Given the description of an element on the screen output the (x, y) to click on. 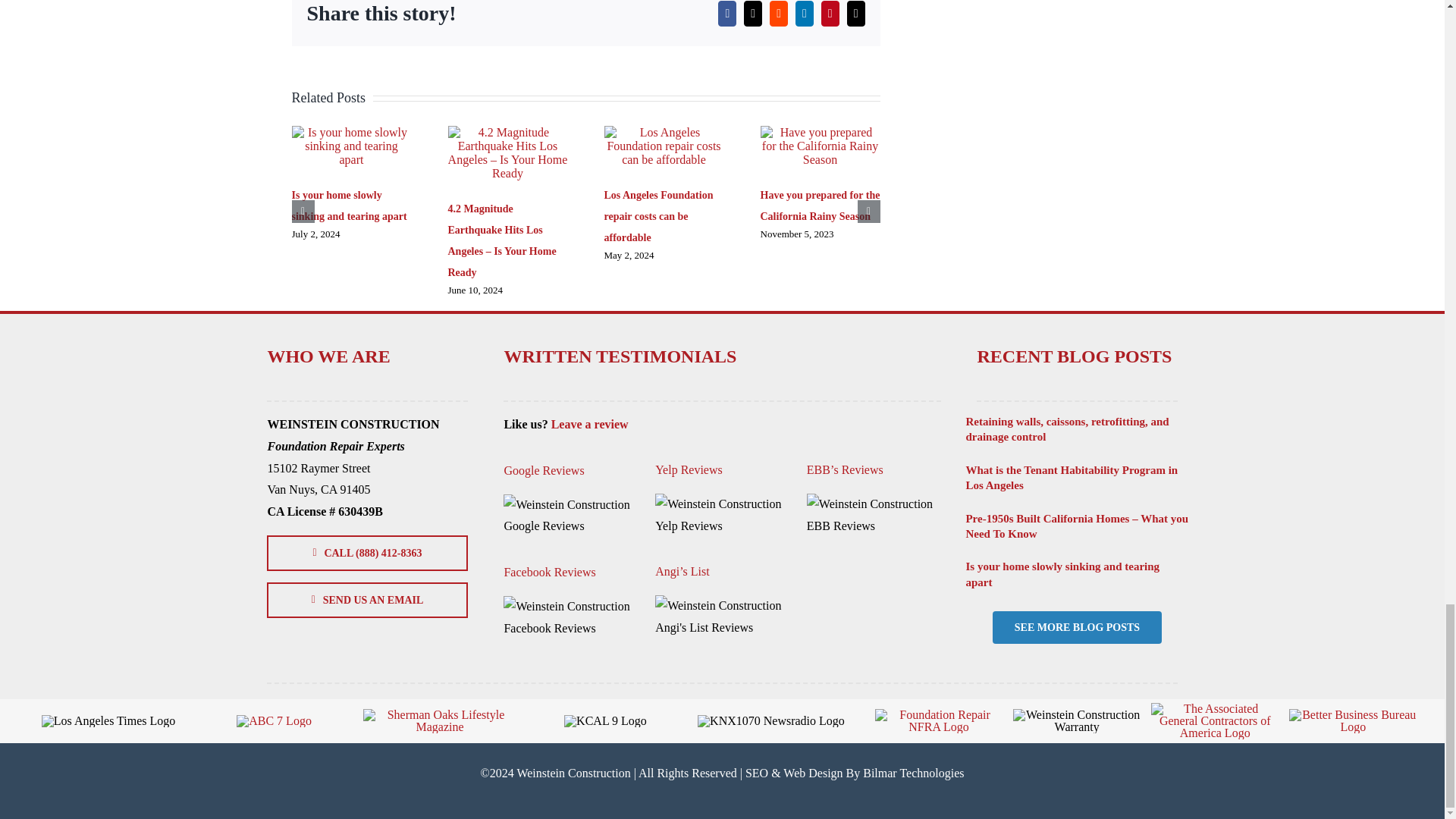
Los Angeles Foundation repair costs can be affordable (658, 216)
Is your home slowly sinking and tearing apart (348, 205)
Have you prepared for the California Rainy Season (819, 205)
